Given the description of an element on the screen output the (x, y) to click on. 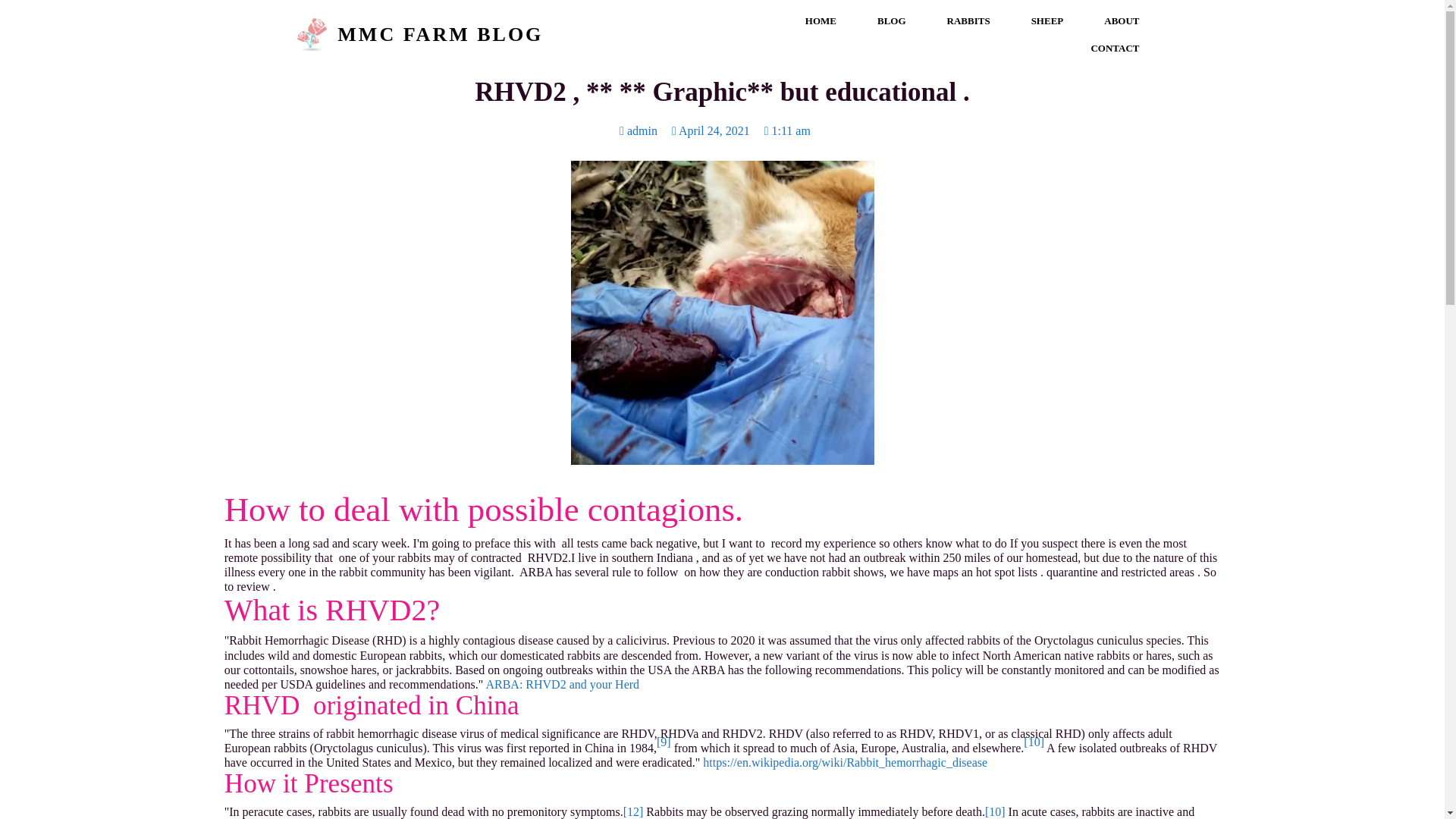
HOME (821, 21)
BLOG (891, 21)
Autopsy (721, 312)
ARBA: RHVD2 and your Herd (561, 684)
April 24, 2021 (710, 130)
MMC FARM BLOG (500, 34)
1:11 am (787, 130)
SHEEP (1047, 21)
admin (639, 130)
RABBITS (968, 21)
